Given the description of an element on the screen output the (x, y) to click on. 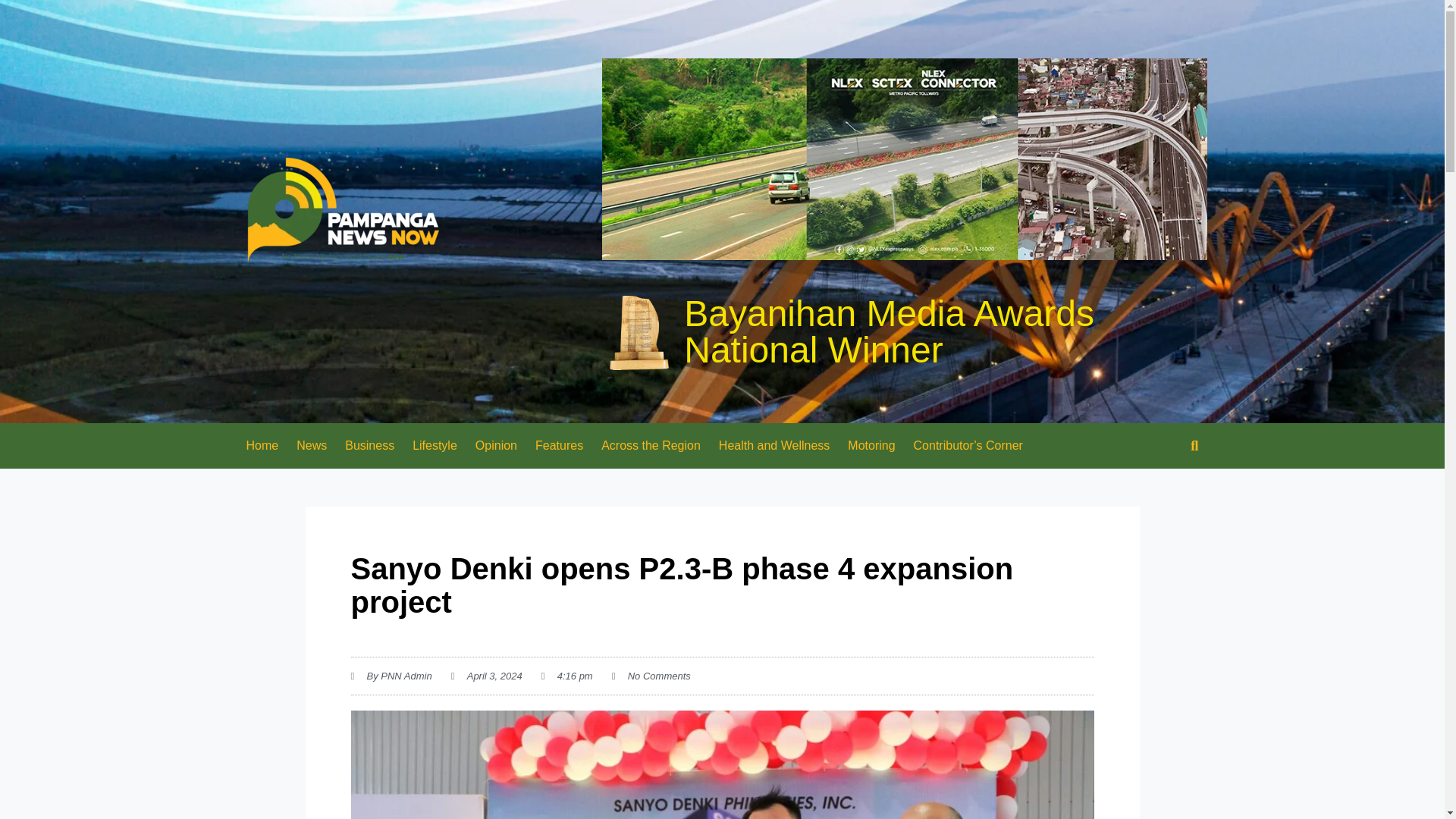
Opinion (495, 445)
Features (558, 445)
Business (369, 445)
News (311, 445)
Lifestyle (434, 445)
Motoring (871, 445)
No Comments (650, 676)
Across the Region (651, 445)
By PNN Admin (390, 676)
April 3, 2024 (486, 676)
Home (260, 445)
Health and Wellness (774, 445)
